Given the description of an element on the screen output the (x, y) to click on. 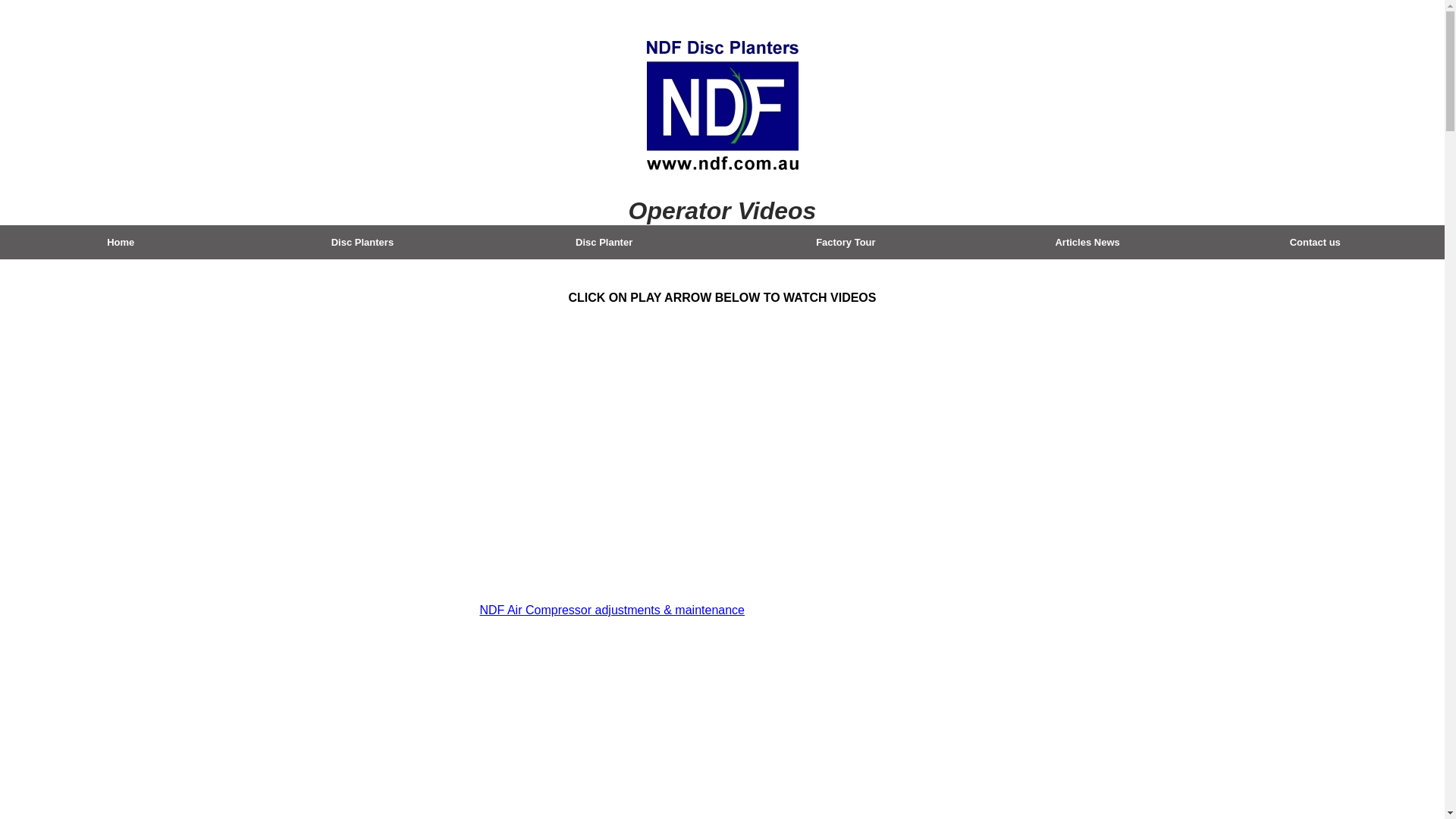
Home Element type: text (120, 240)
Disc Planters Element type: text (362, 240)
Articles News Element type: text (1086, 240)
Contact us Element type: text (1314, 240)
Disc Planter Element type: text (603, 240)
Factory Tour Element type: text (845, 240)
NDF Air Compressor adjustments & maintenance Element type: text (611, 609)
